Given the description of an element on the screen output the (x, y) to click on. 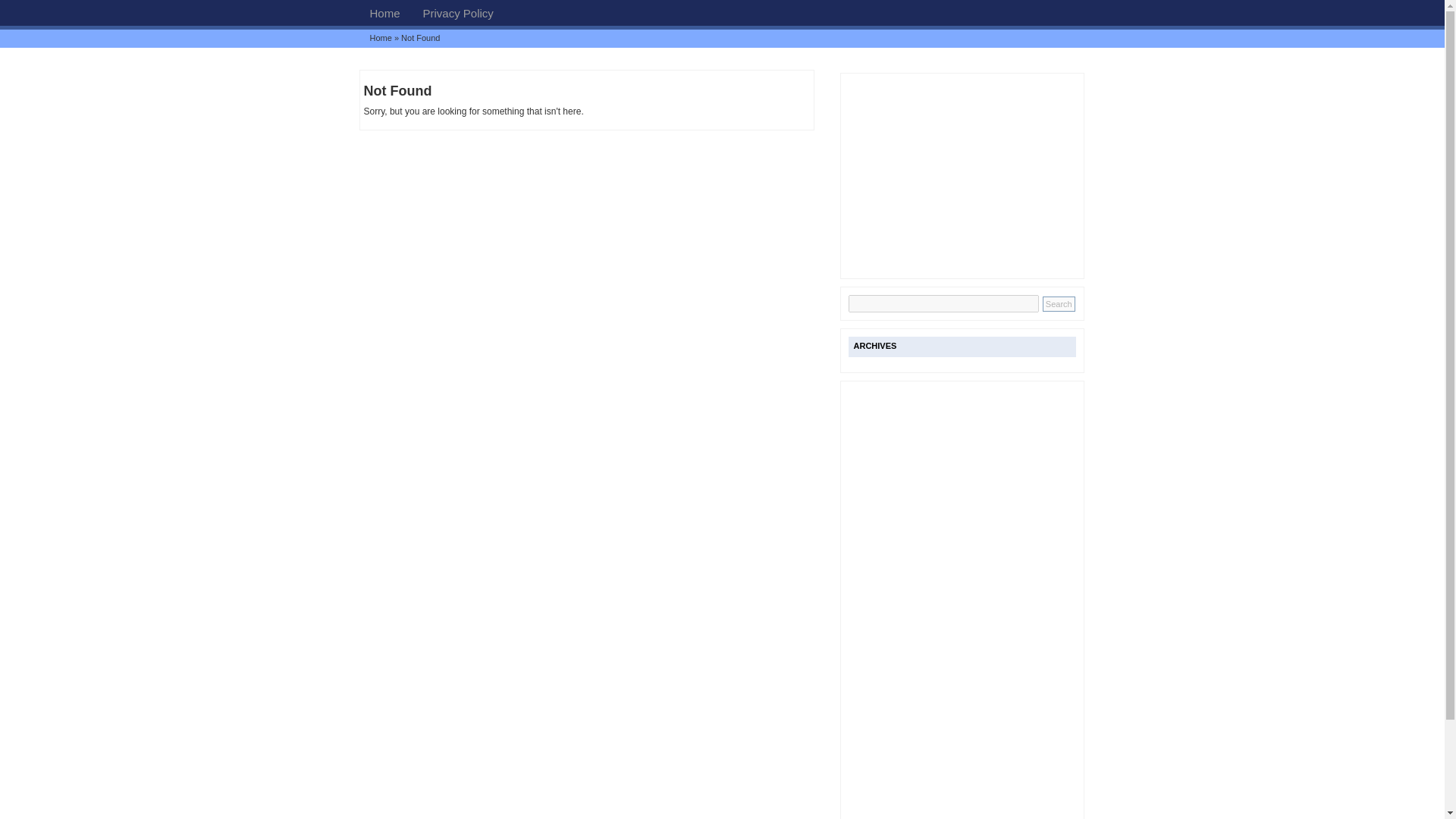
Privacy Policy (458, 12)
Home (384, 12)
GTOPCARS.COM (384, 12)
Home (380, 37)
Search (1058, 304)
GTOPCARS.COM (380, 37)
Search (1058, 304)
